Given the description of an element on the screen output the (x, y) to click on. 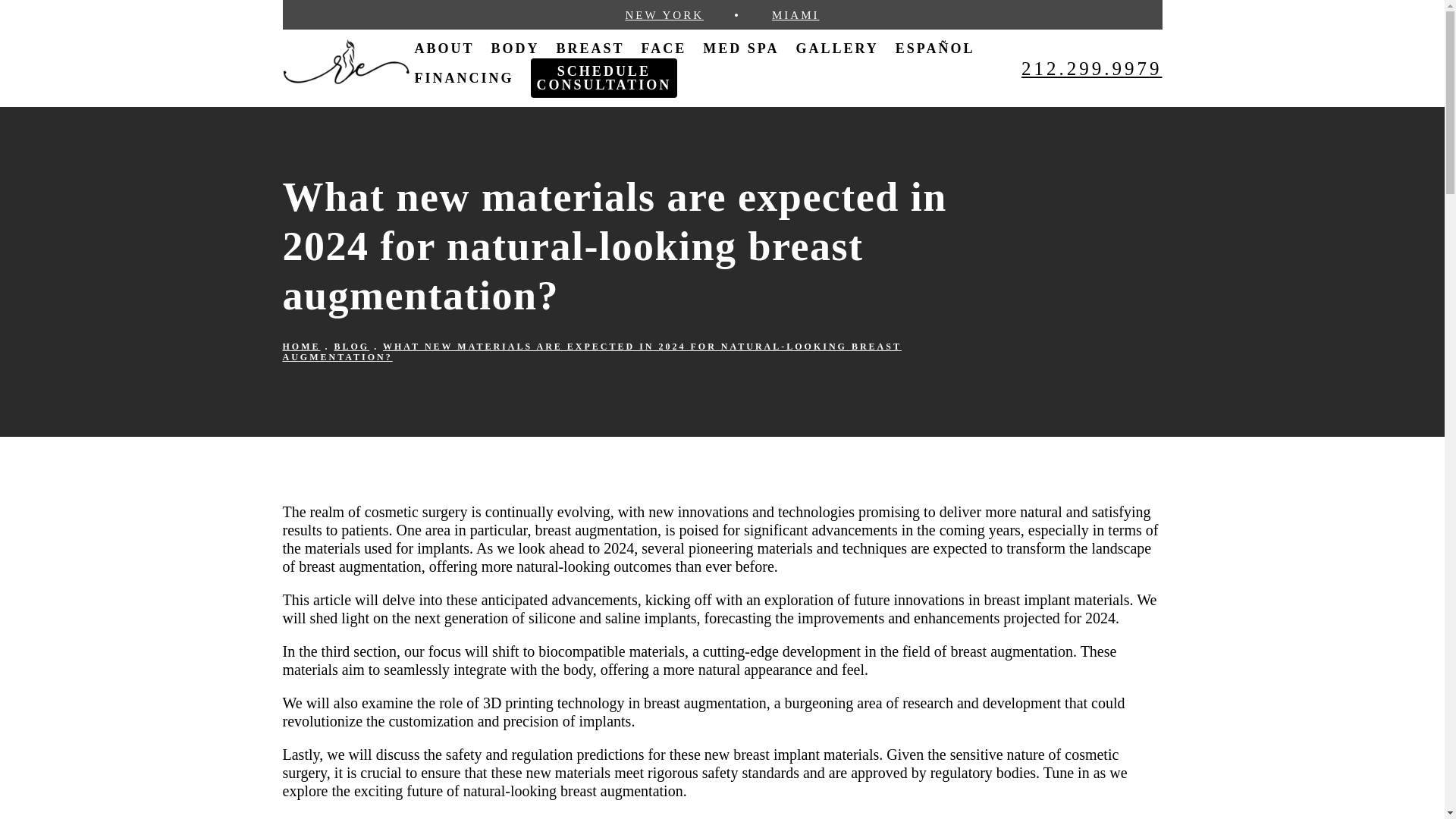
ABOUT (443, 48)
BODY (516, 48)
1641927174-logo2 (345, 61)
FACE (664, 48)
MED SPA (740, 48)
MIAMI (795, 15)
NEW YORK (663, 15)
BREAST (590, 48)
